Given the description of an element on the screen output the (x, y) to click on. 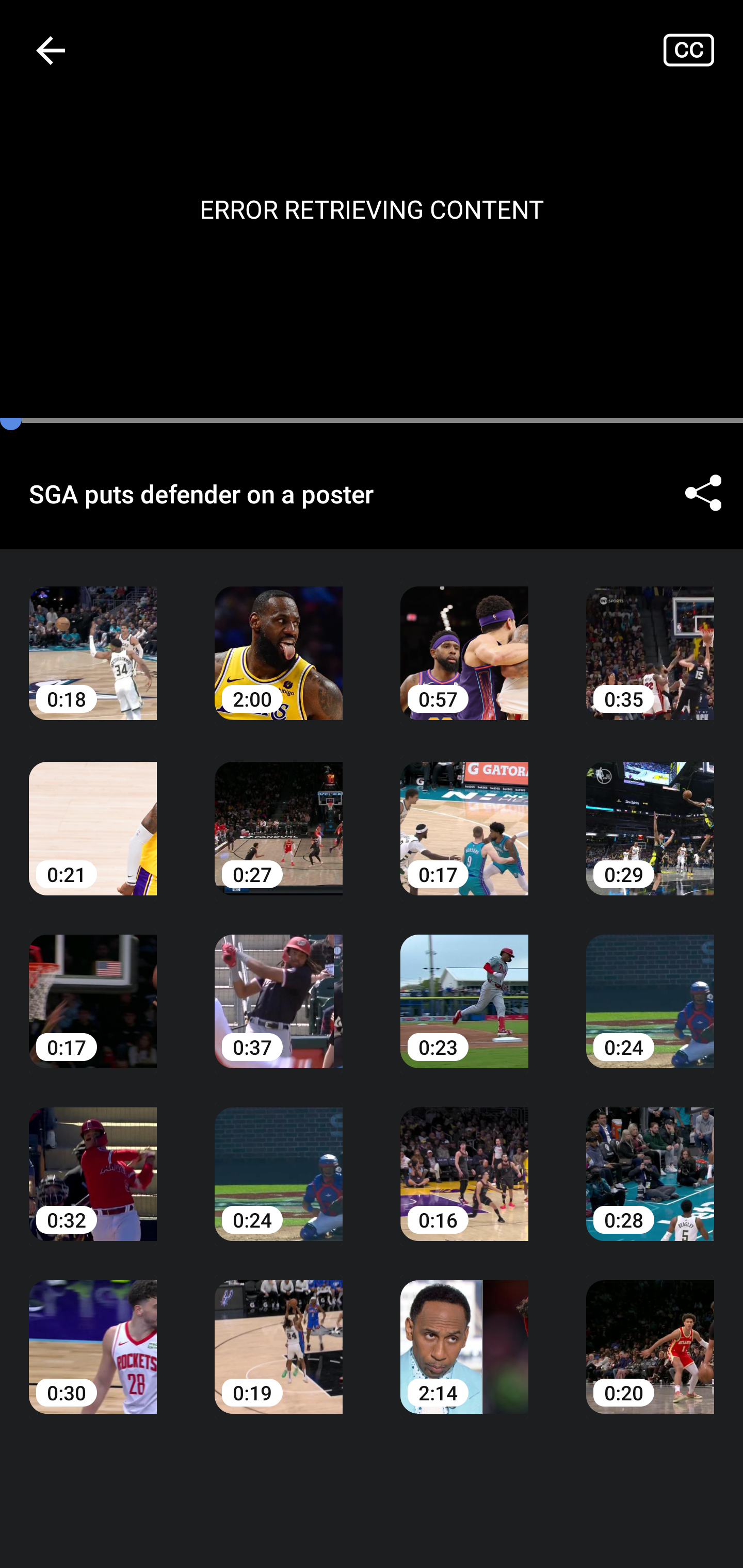
Navigate up (50, 50)
Closed captions  (703, 49)
Share © (703, 493)
0:18 (92, 637)
2:00 (278, 637)
0:57 (464, 637)
0:35 (650, 637)
0:21 (92, 813)
0:27 (278, 813)
0:17 (464, 813)
0:29 (650, 813)
0:17 (92, 987)
0:37 (278, 987)
0:23 (464, 987)
0:24 (650, 987)
0:32 (92, 1160)
0:24 (278, 1160)
0:16 (464, 1160)
0:28 (650, 1160)
0:30 (92, 1332)
0:19 (278, 1332)
2:14 (464, 1332)
0:20 (650, 1332)
